Given the description of an element on the screen output the (x, y) to click on. 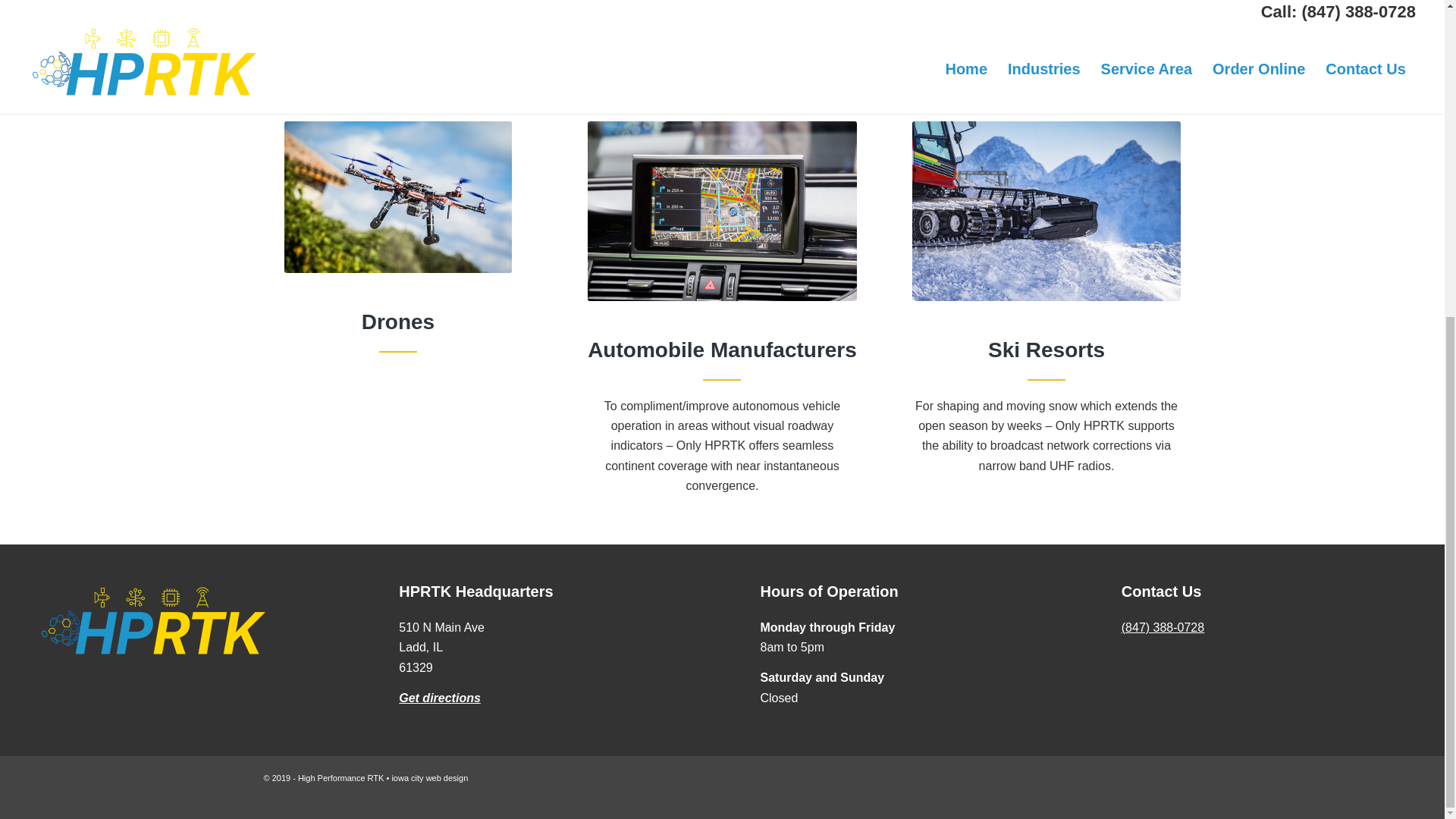
Drone (397, 196)
Car navigation (722, 211)
Get directions (439, 697)
Ski Resorts (1046, 211)
Iowa City Web Design, LLC (429, 777)
iowa city web design (429, 777)
HPRTK with icobs (150, 620)
